Given the description of an element on the screen output the (x, y) to click on. 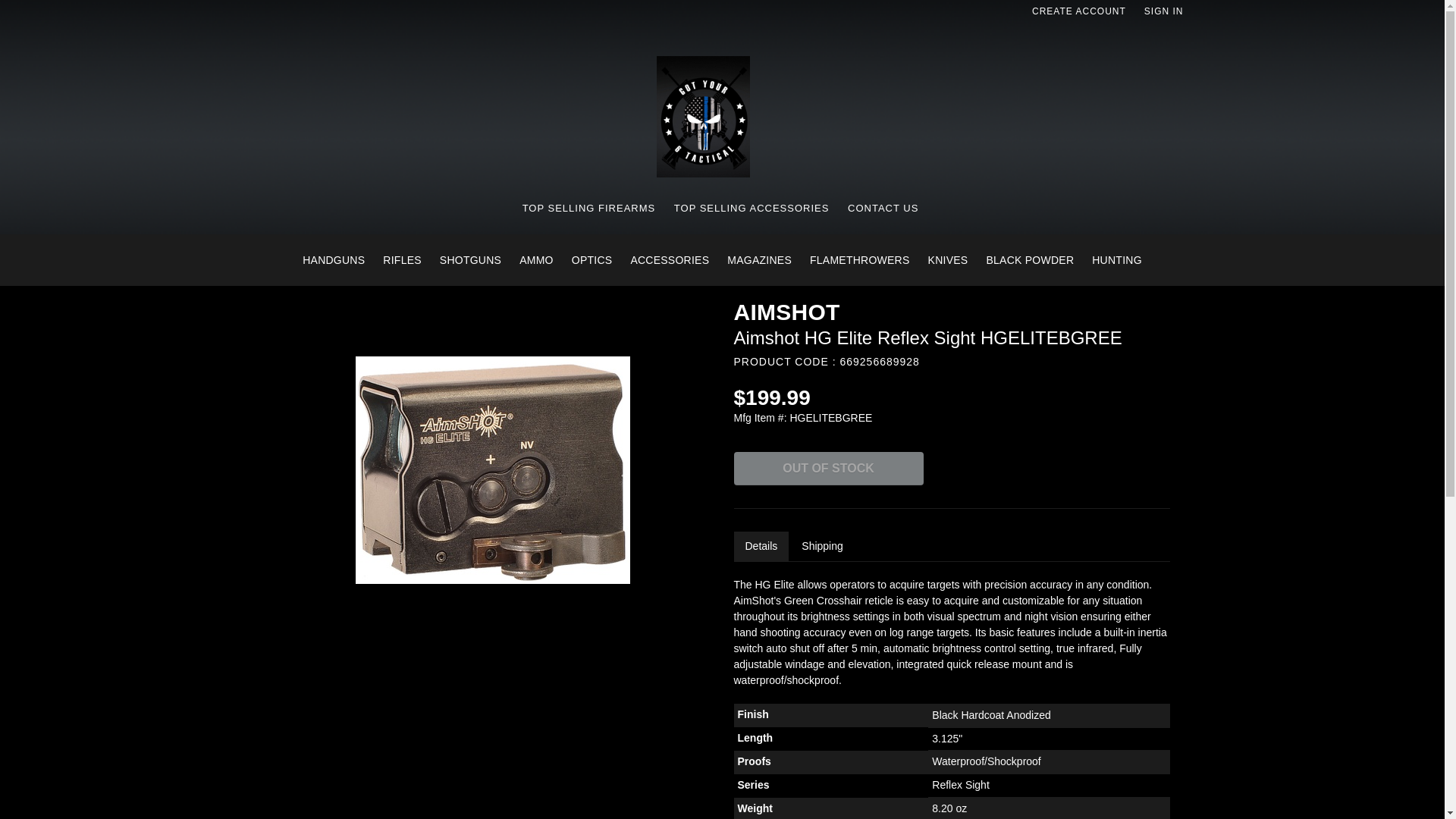
TOP SELLING FIREARMS (589, 207)
HANDGUNS (334, 259)
TOP SELLING ACCESSORIES (751, 207)
CREATE ACCOUNT (1079, 11)
SIGN IN (1163, 11)
RIFLES (402, 259)
CONTACT US (882, 207)
